Given the description of an element on the screen output the (x, y) to click on. 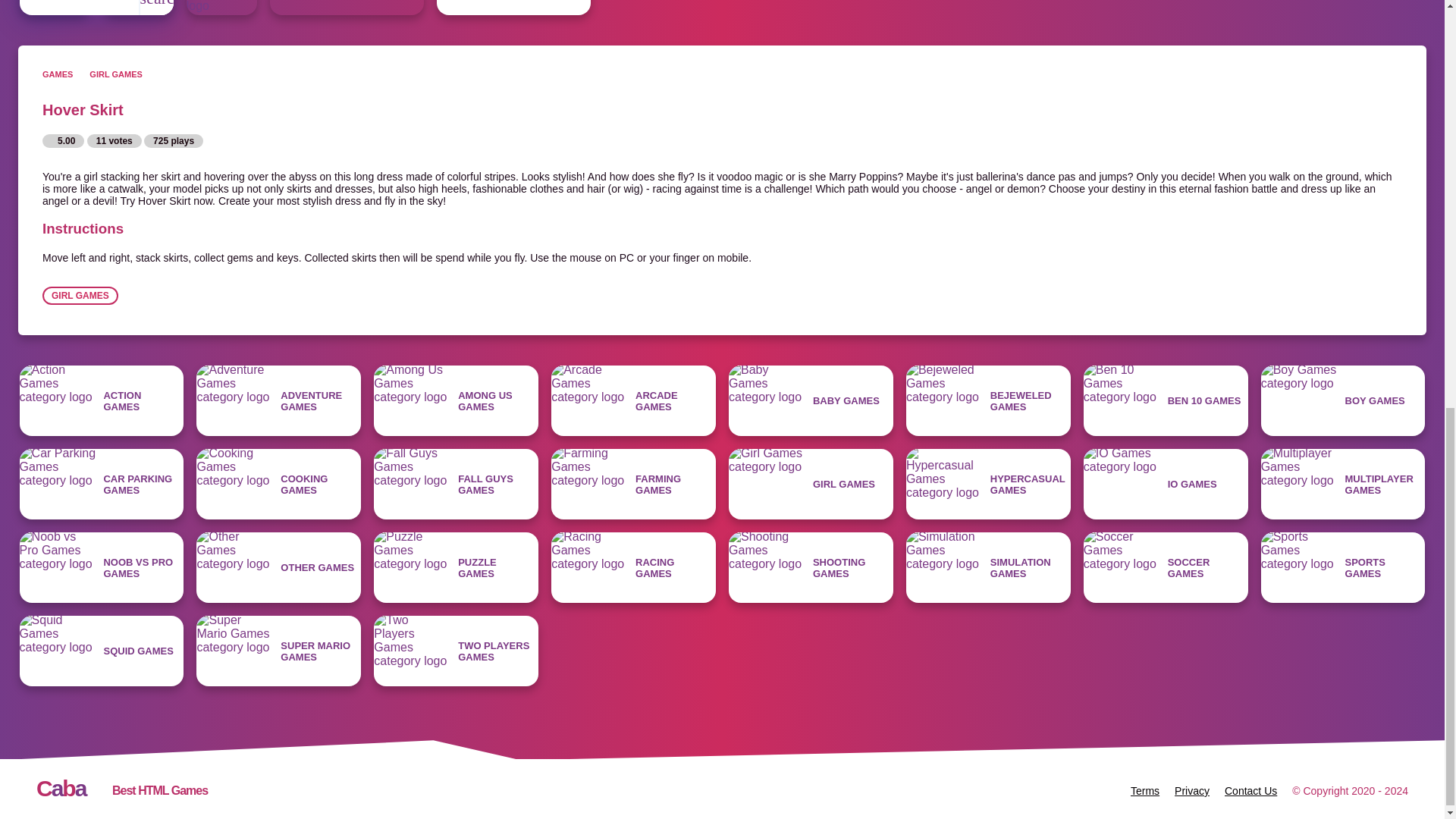
Girl Games (513, 7)
